Given the description of an element on the screen output the (x, y) to click on. 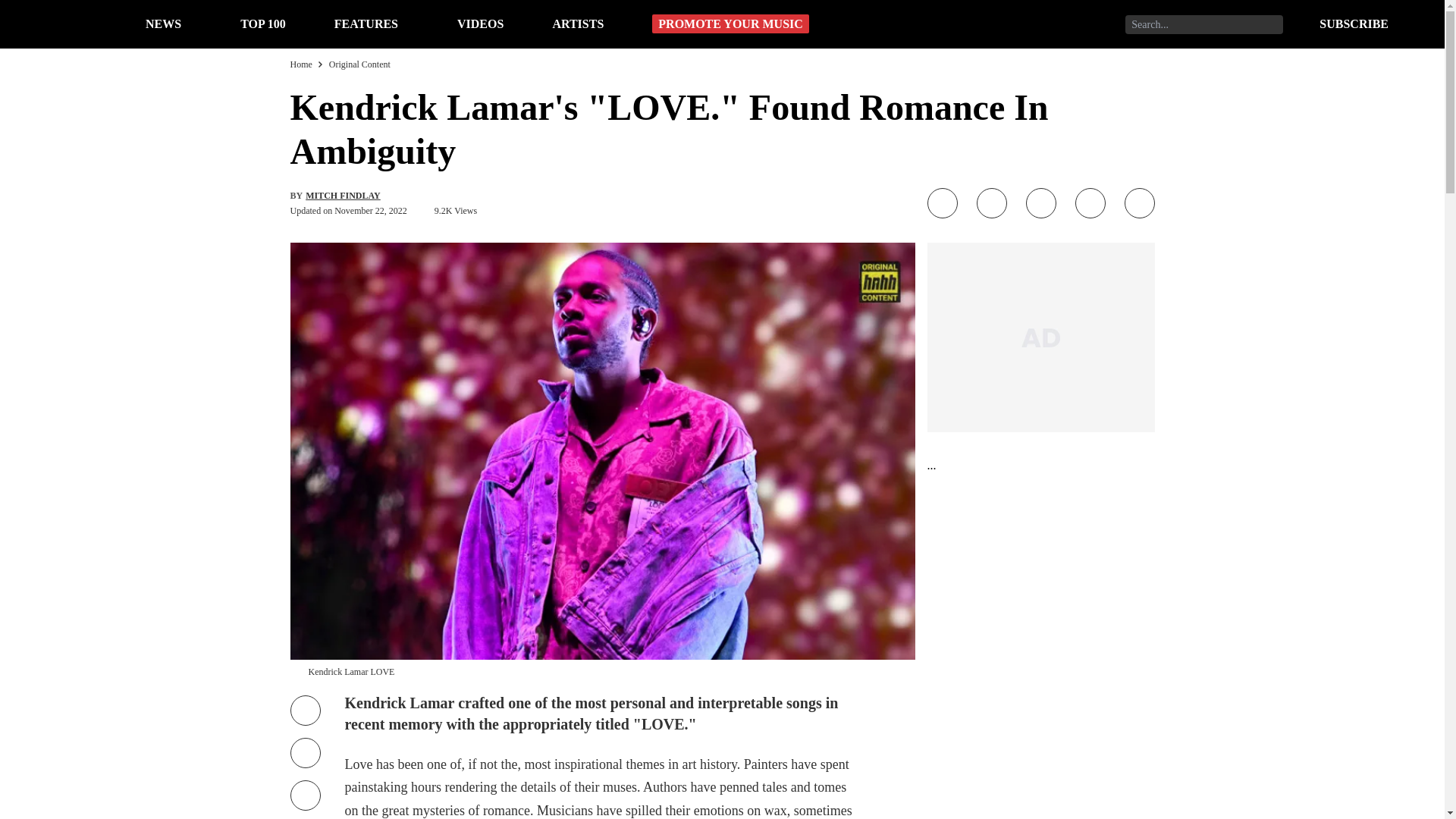
FEATURES (365, 23)
NEWS (162, 23)
MITCH FINDLAY (342, 195)
November 22, 2022 (370, 210)
Home (300, 63)
Original Content (359, 63)
TOP 100 (262, 23)
